Given the description of an element on the screen output the (x, y) to click on. 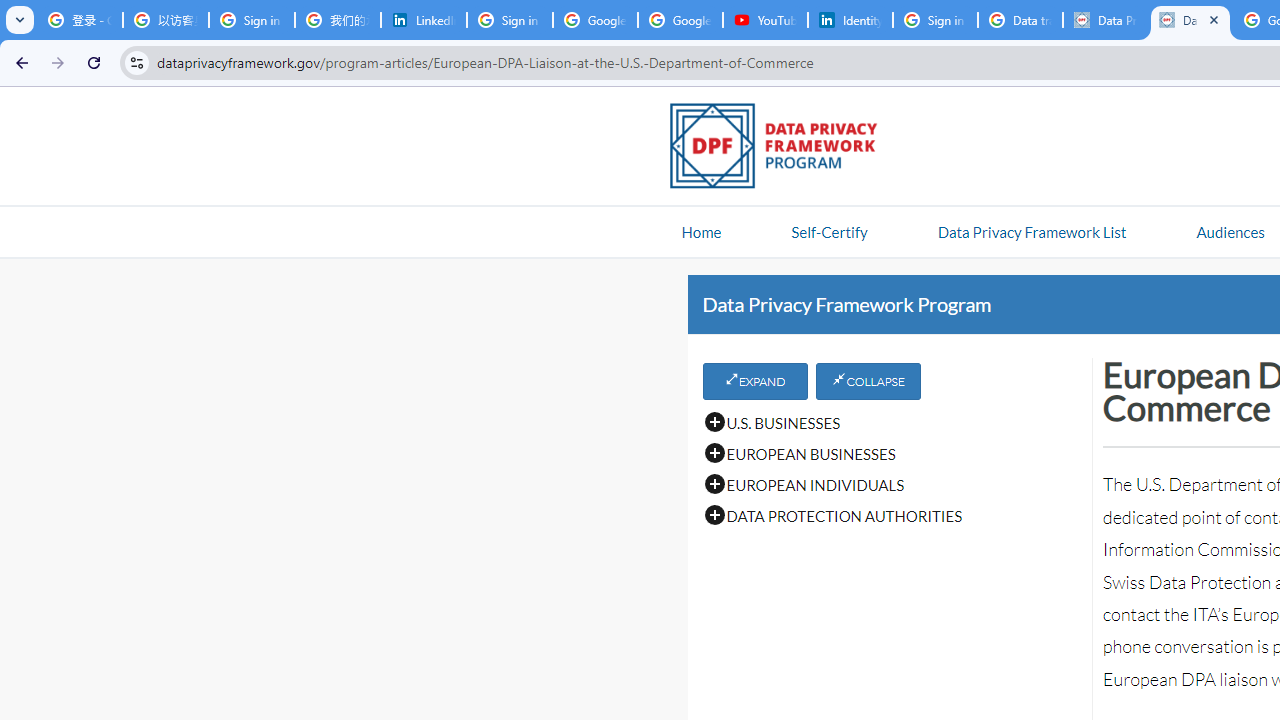
COLLAPSE (868, 381)
LinkedIn Privacy Policy (424, 20)
Home (701, 231)
Self-Certify (829, 231)
Sign in - Google Accounts (935, 20)
Audiences (1230, 231)
Data Privacy Framework List (1031, 231)
